Given the description of an element on the screen output the (x, y) to click on. 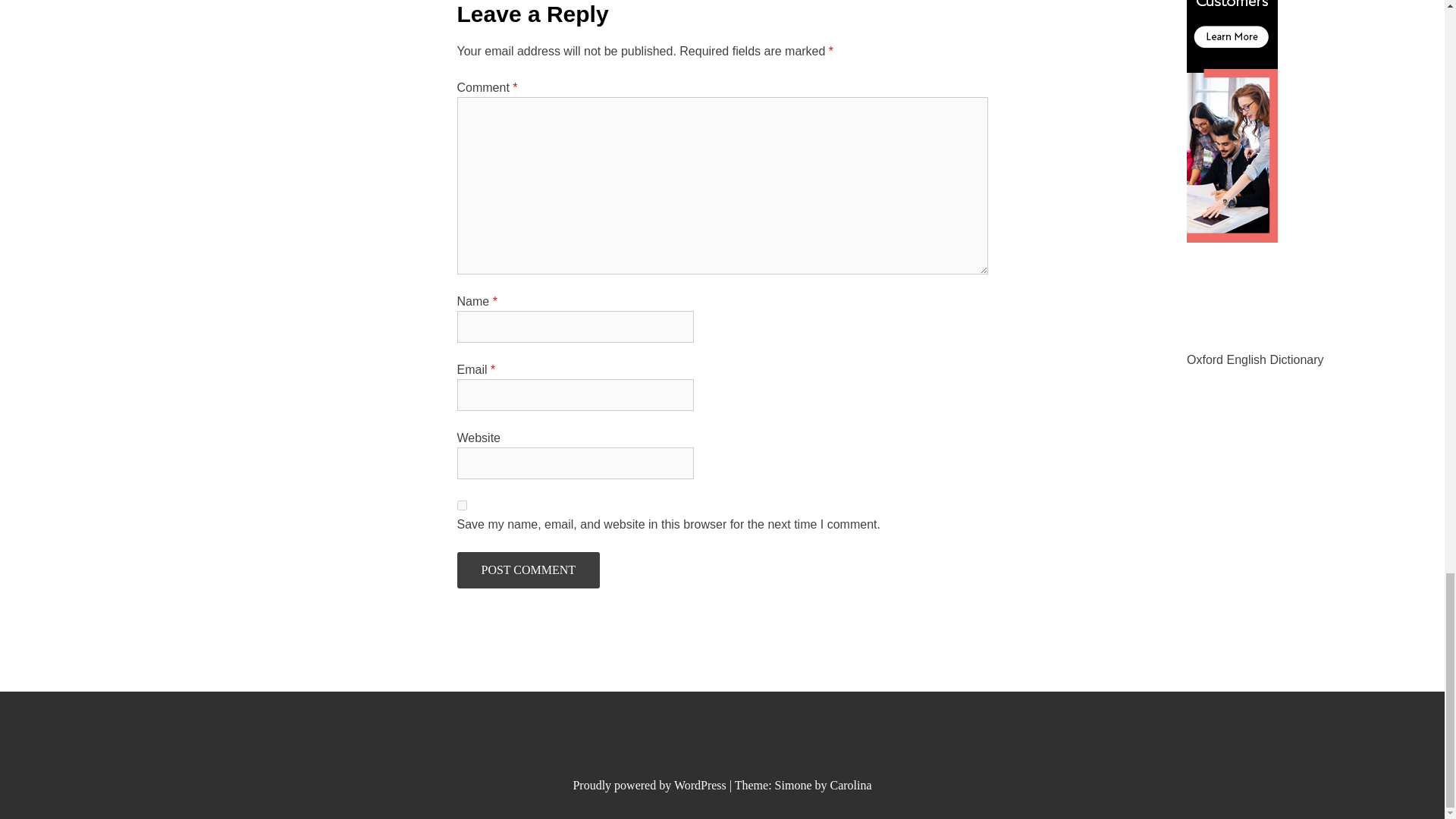
Post Comment (528, 570)
yes (461, 505)
Professional Translation (1232, 237)
Post Comment (528, 570)
